Given the description of an element on the screen output the (x, y) to click on. 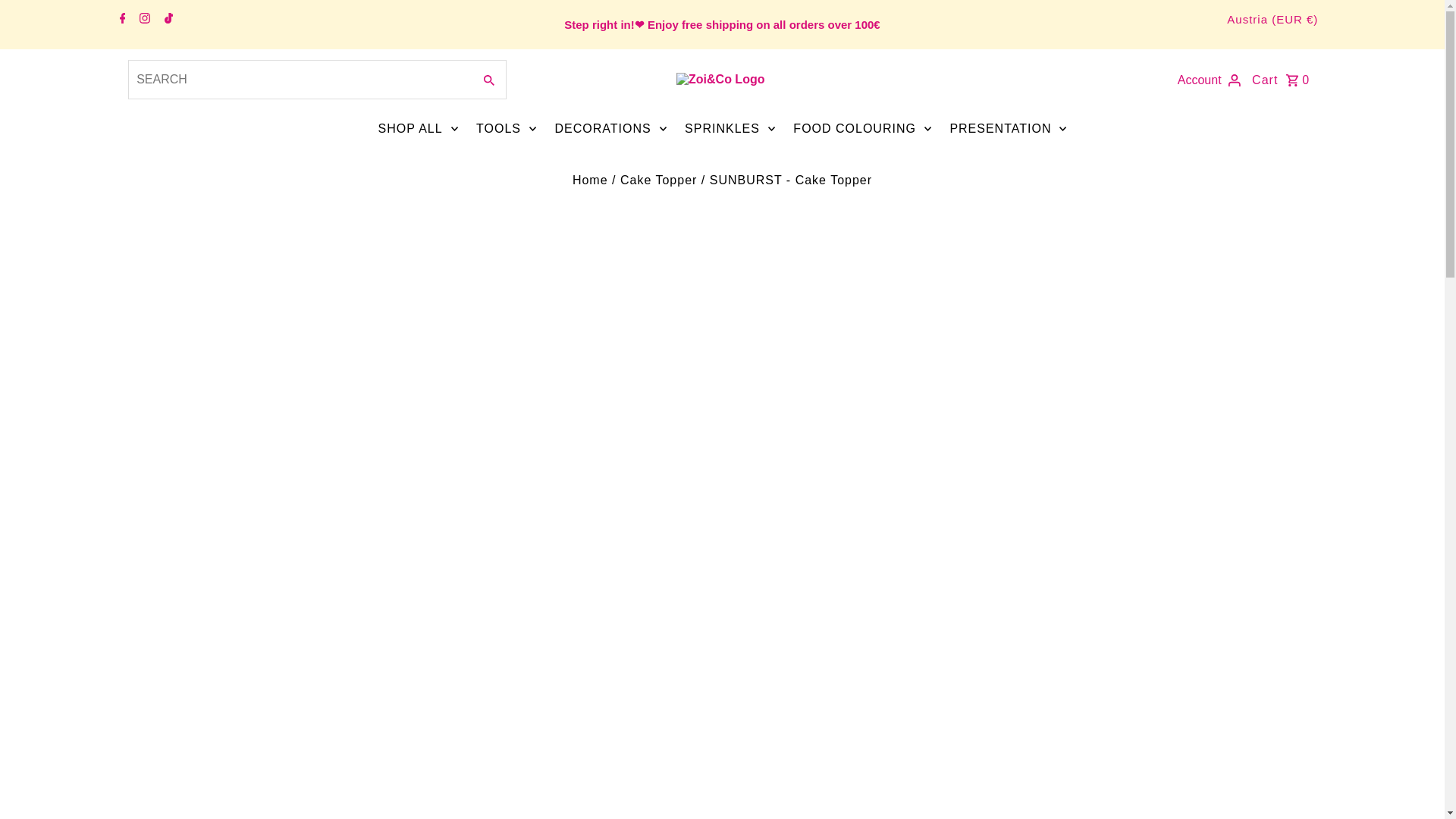
Home (590, 179)
Cake Topper (658, 179)
